Given the description of an element on the screen output the (x, y) to click on. 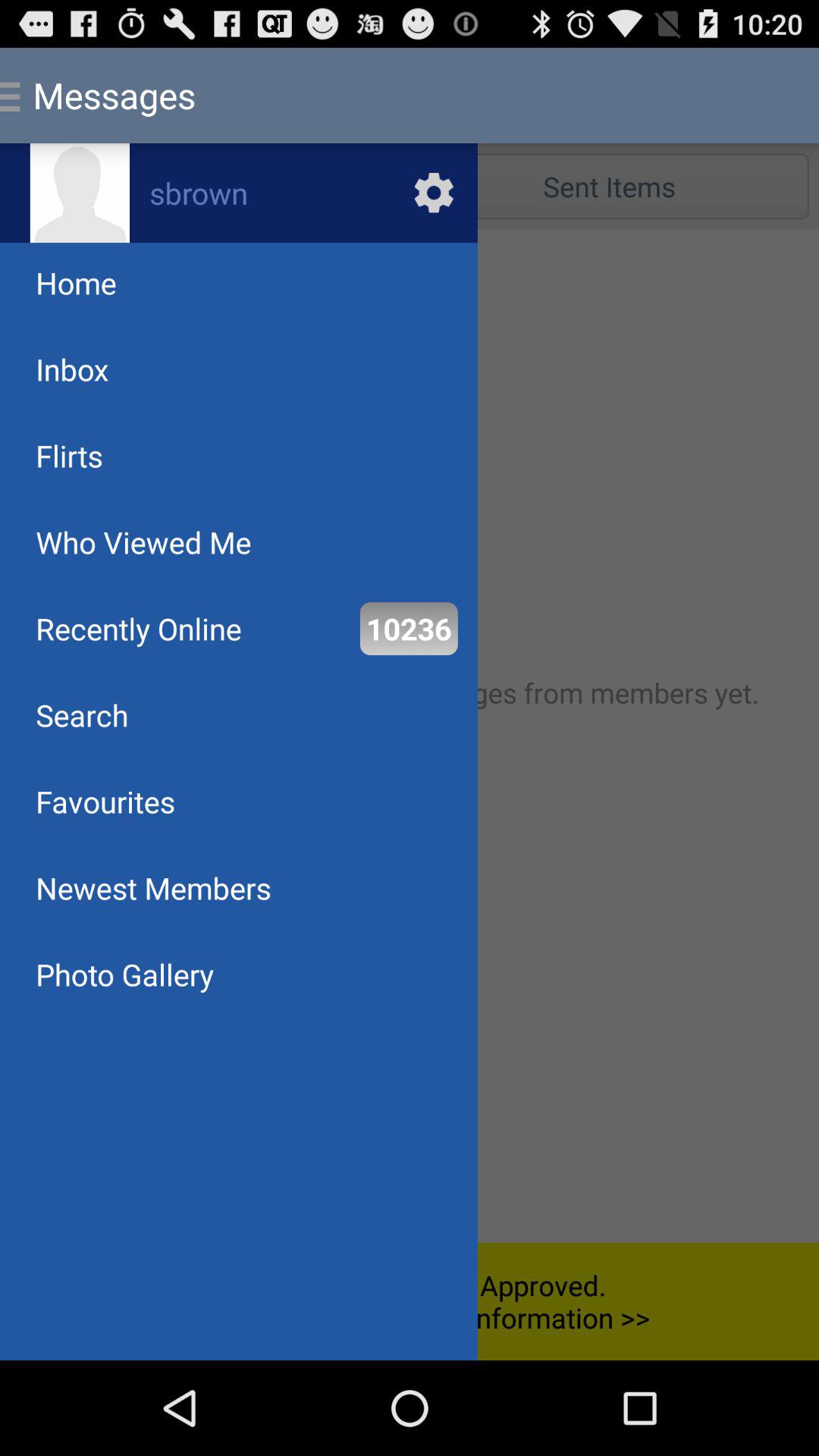
tap item below the flirts icon (143, 542)
